Given the description of an element on the screen output the (x, y) to click on. 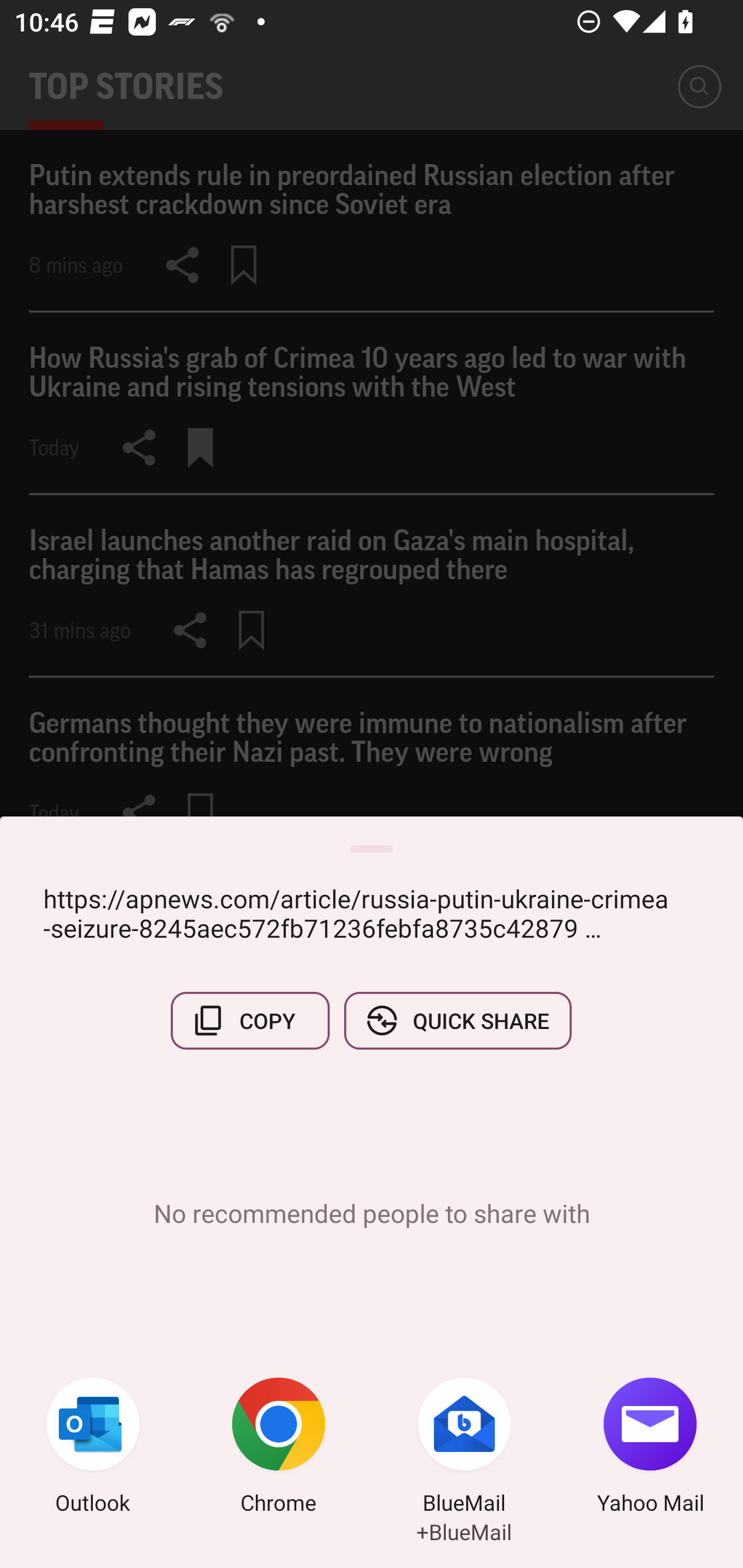
COPY (249, 1020)
QUICK SHARE (457, 1020)
Outlook (92, 1448)
Chrome (278, 1448)
BlueMail +BlueMail (464, 1448)
Yahoo Mail (650, 1448)
